Given the description of an element on the screen output the (x, y) to click on. 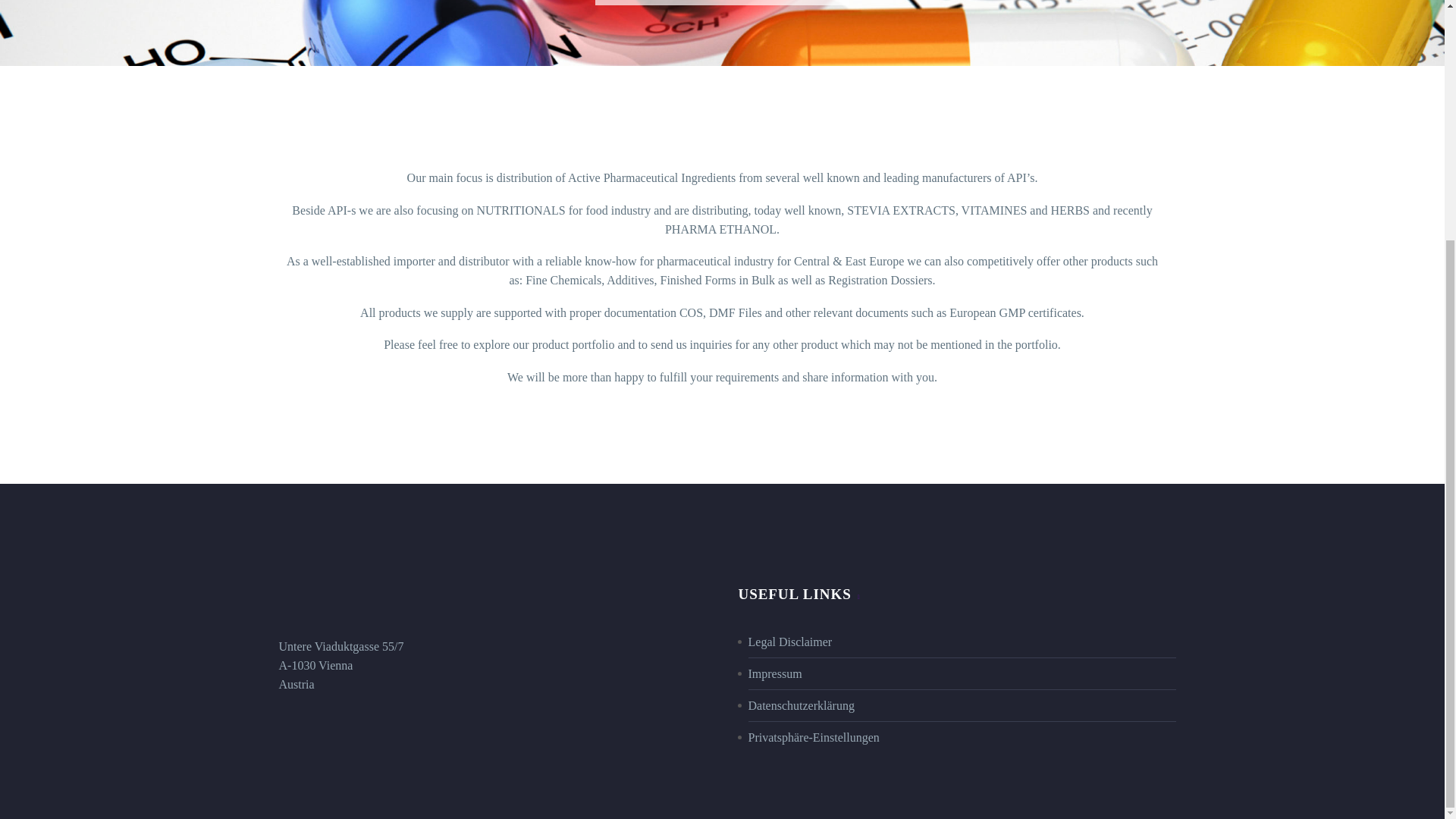
Legal Disclaimer (789, 641)
Impressum (775, 673)
